Given the description of an element on the screen output the (x, y) to click on. 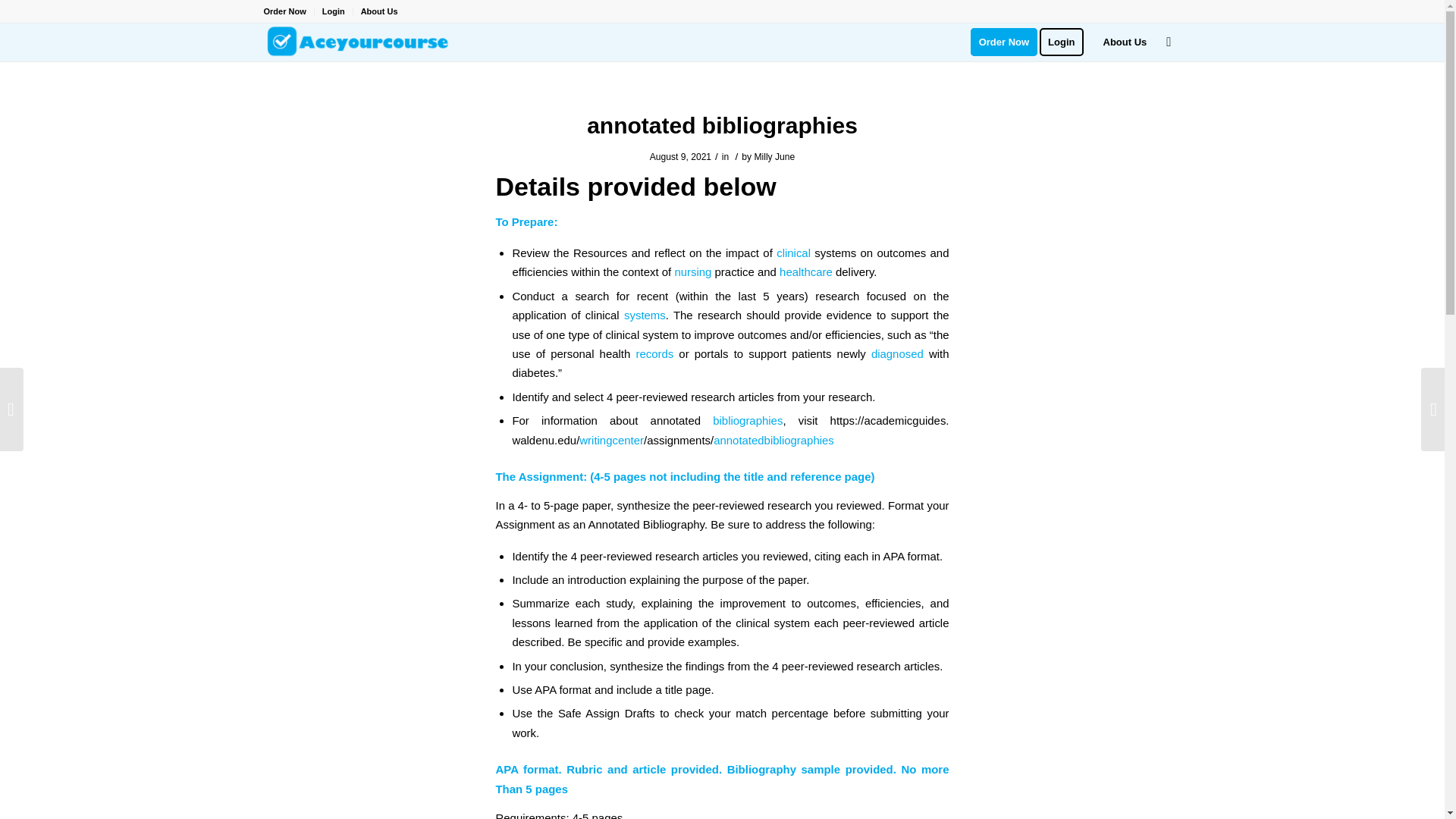
bibliographies (748, 420)
clinical (793, 252)
Posts by Milly June (774, 156)
Login (333, 11)
records (653, 353)
About Us (379, 11)
systems (644, 314)
Milly June (774, 156)
Login (1066, 42)
About Us (1125, 42)
